Given the description of an element on the screen output the (x, y) to click on. 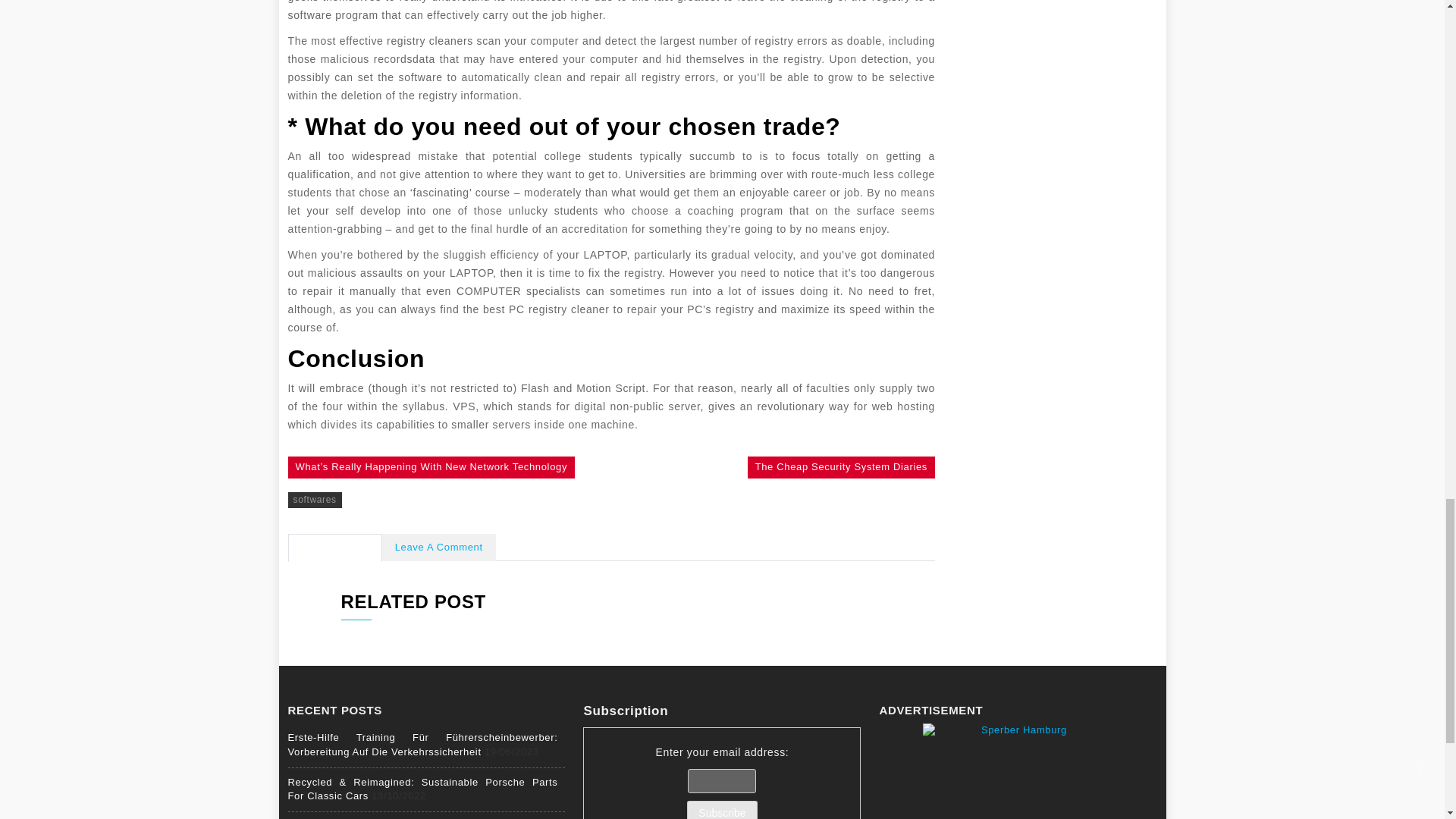
The Cheap Security System Diaries (841, 467)
No Comments (334, 547)
softwares (315, 499)
Sperber Hamburg (1017, 771)
Subscribe (722, 809)
Leave A Comment (438, 547)
